Given the description of an element on the screen output the (x, y) to click on. 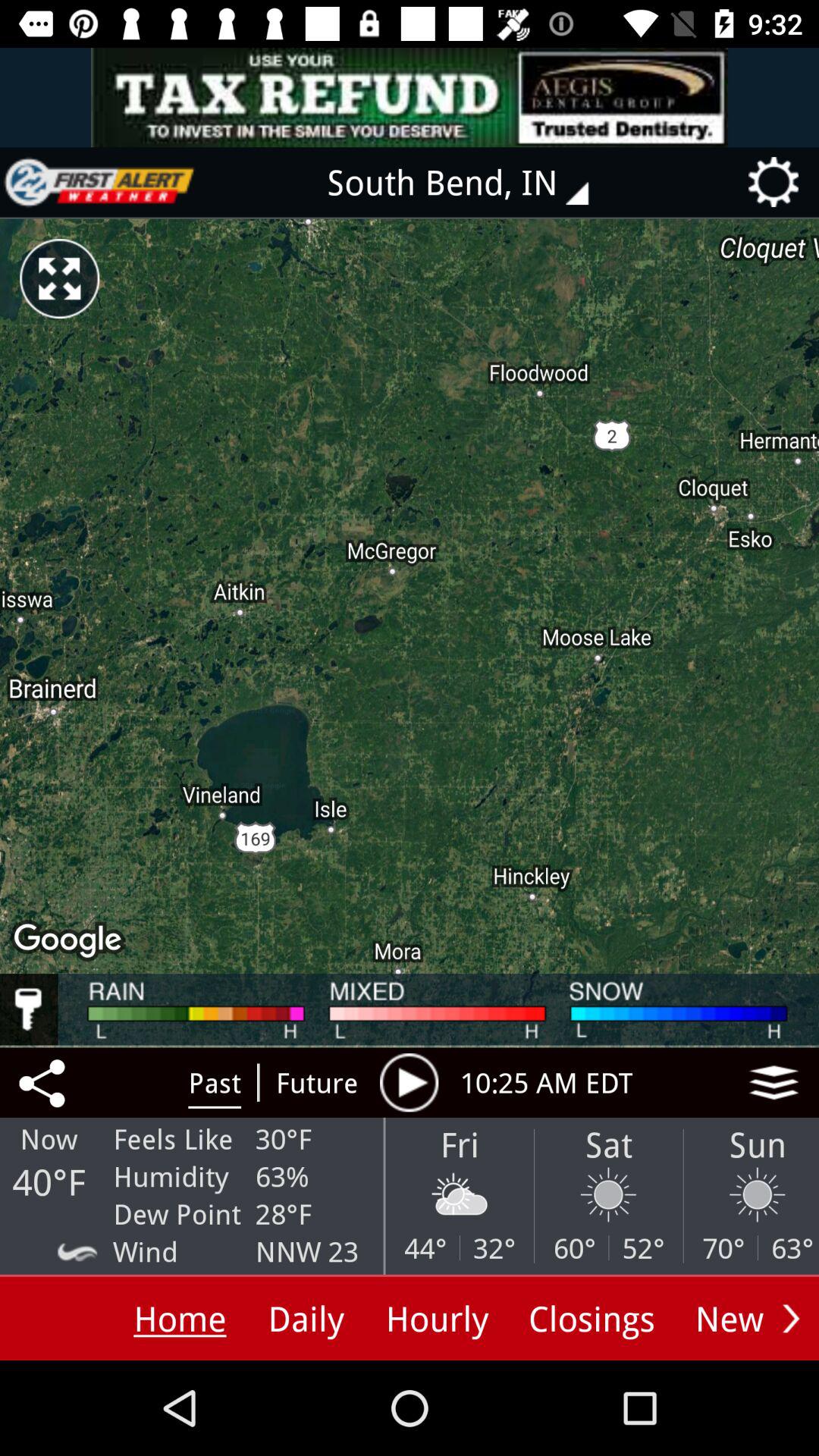
share results (44, 1082)
